Given the description of an element on the screen output the (x, y) to click on. 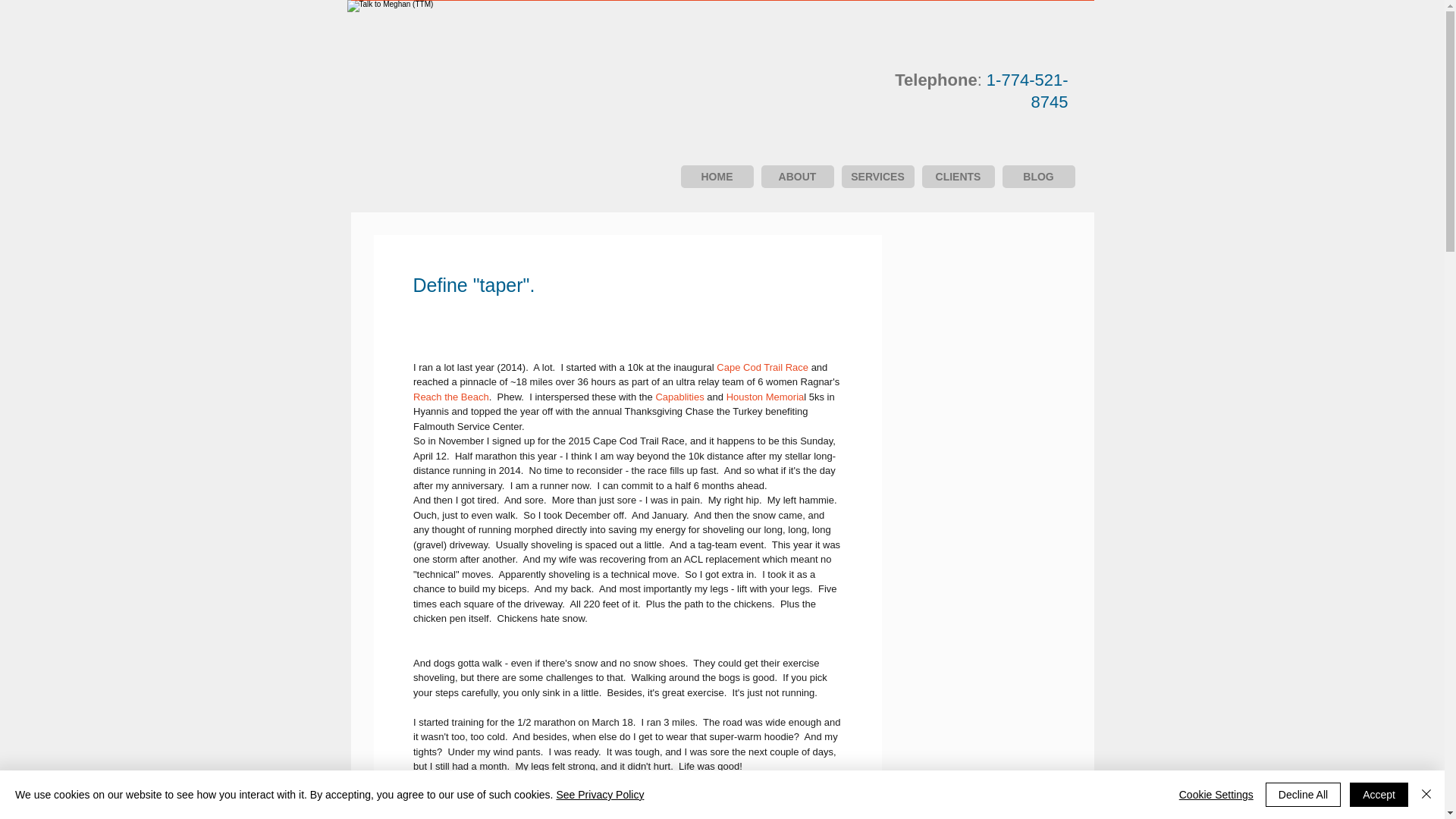
Cape Cod Trail Race (762, 367)
BLOG (1039, 176)
Houston Memoria (764, 396)
Capablities (679, 396)
CLIENTS (957, 176)
Reach the Beach (449, 396)
ABOUT (797, 176)
SERVICES (877, 176)
HOME (717, 176)
